Given the description of an element on the screen output the (x, y) to click on. 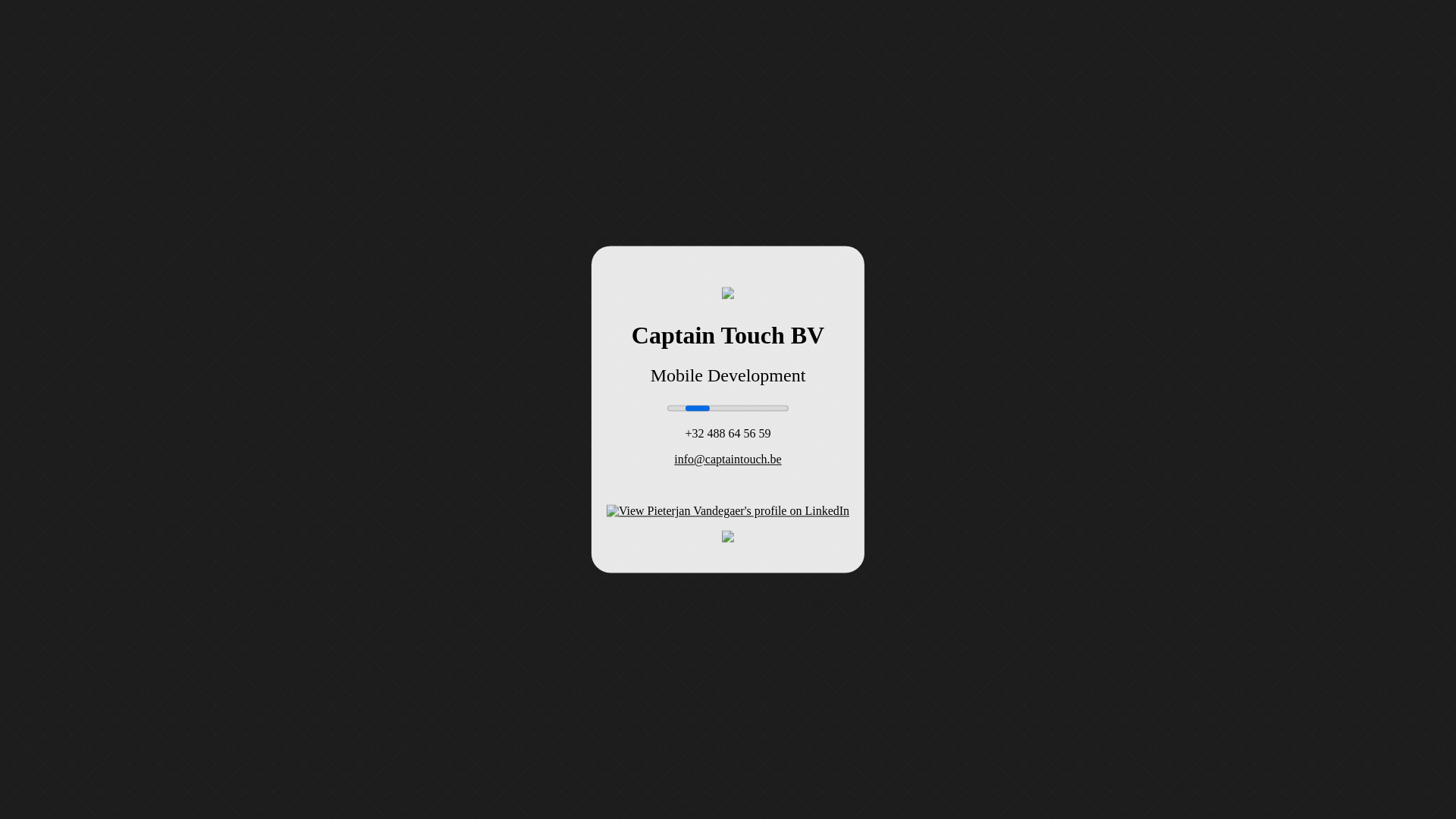
info@captaintouch.be Element type: text (727, 459)
